Given the description of an element on the screen output the (x, y) to click on. 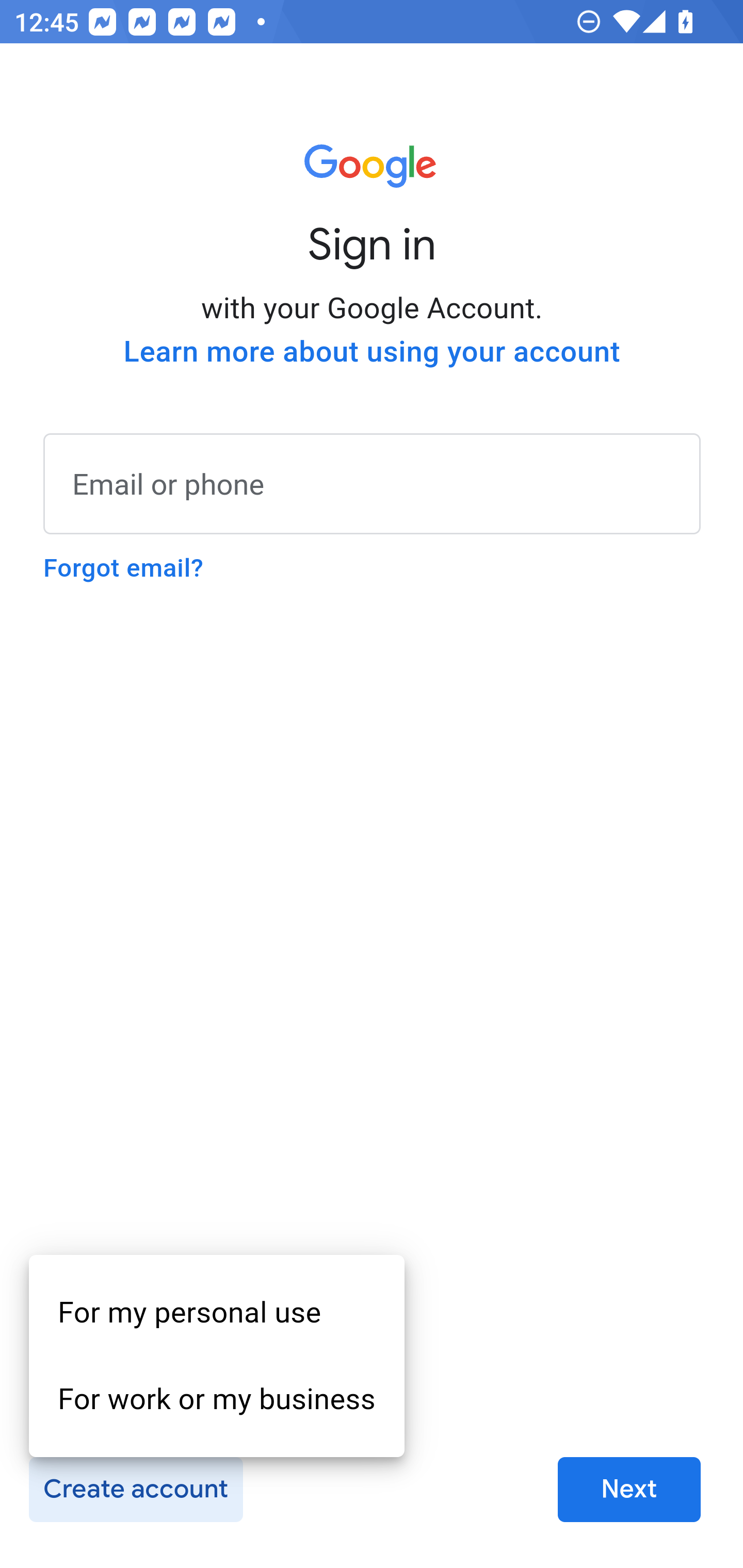
Learn more about using your account (371, 351)
Forgot email? (123, 568)
Create account (134, 1490)
Next (629, 1490)
